Given the description of an element on the screen output the (x, y) to click on. 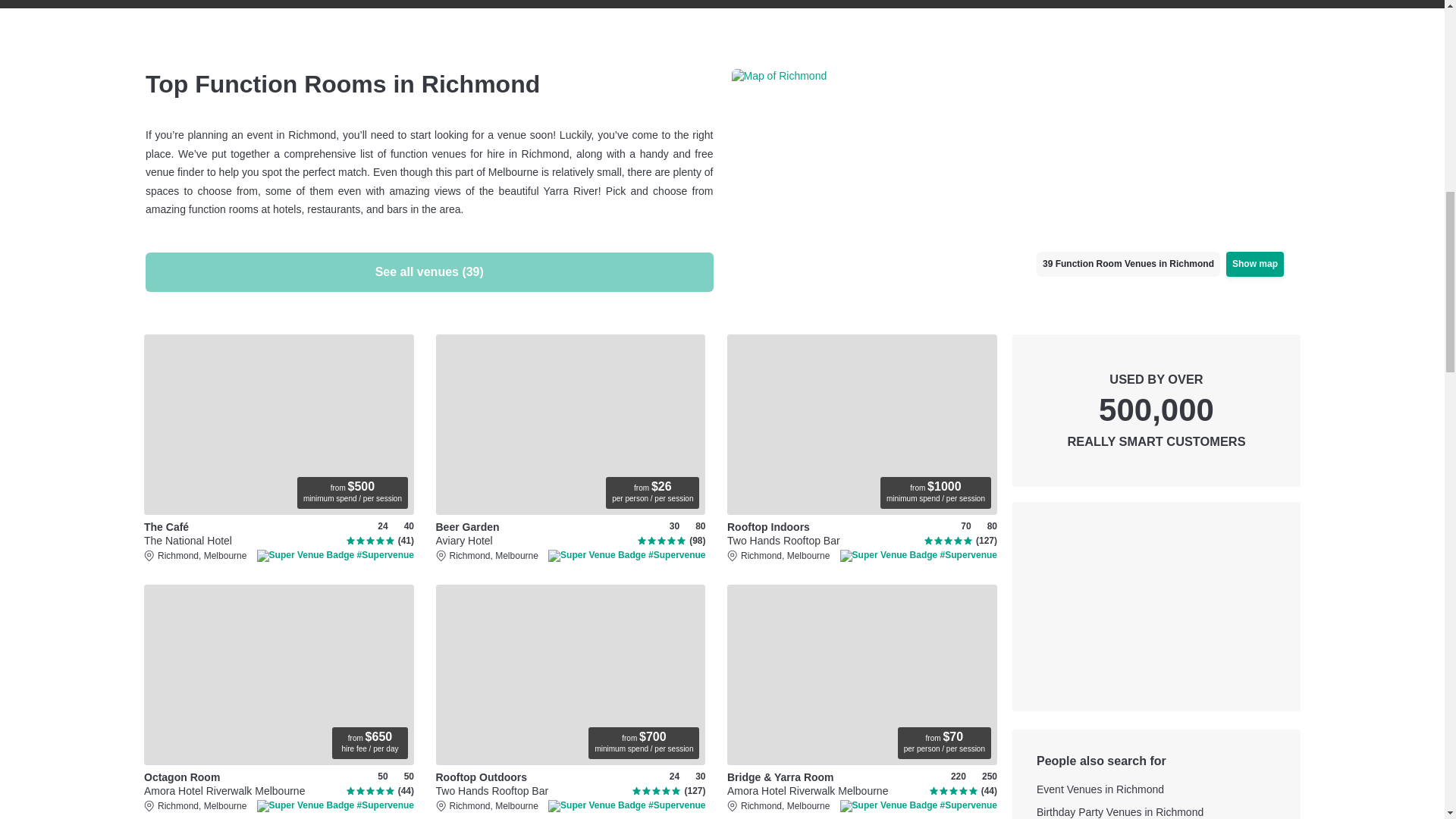
Event Venues in Richmond (1156, 790)
Birthday Party Venues in Richmond (1014, 144)
